Given the description of an element on the screen output the (x, y) to click on. 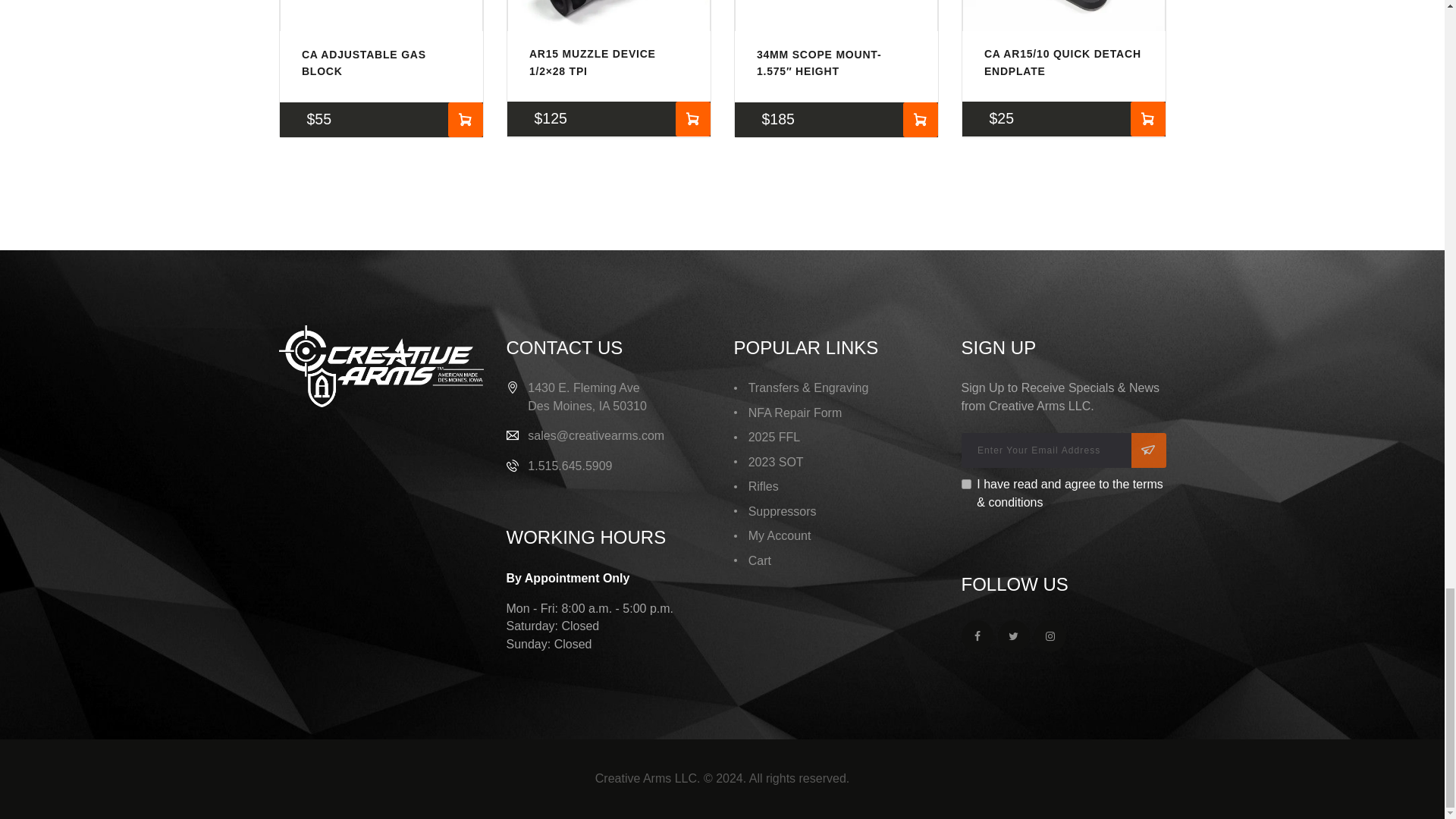
1 (965, 483)
